Given the description of an element on the screen output the (x, y) to click on. 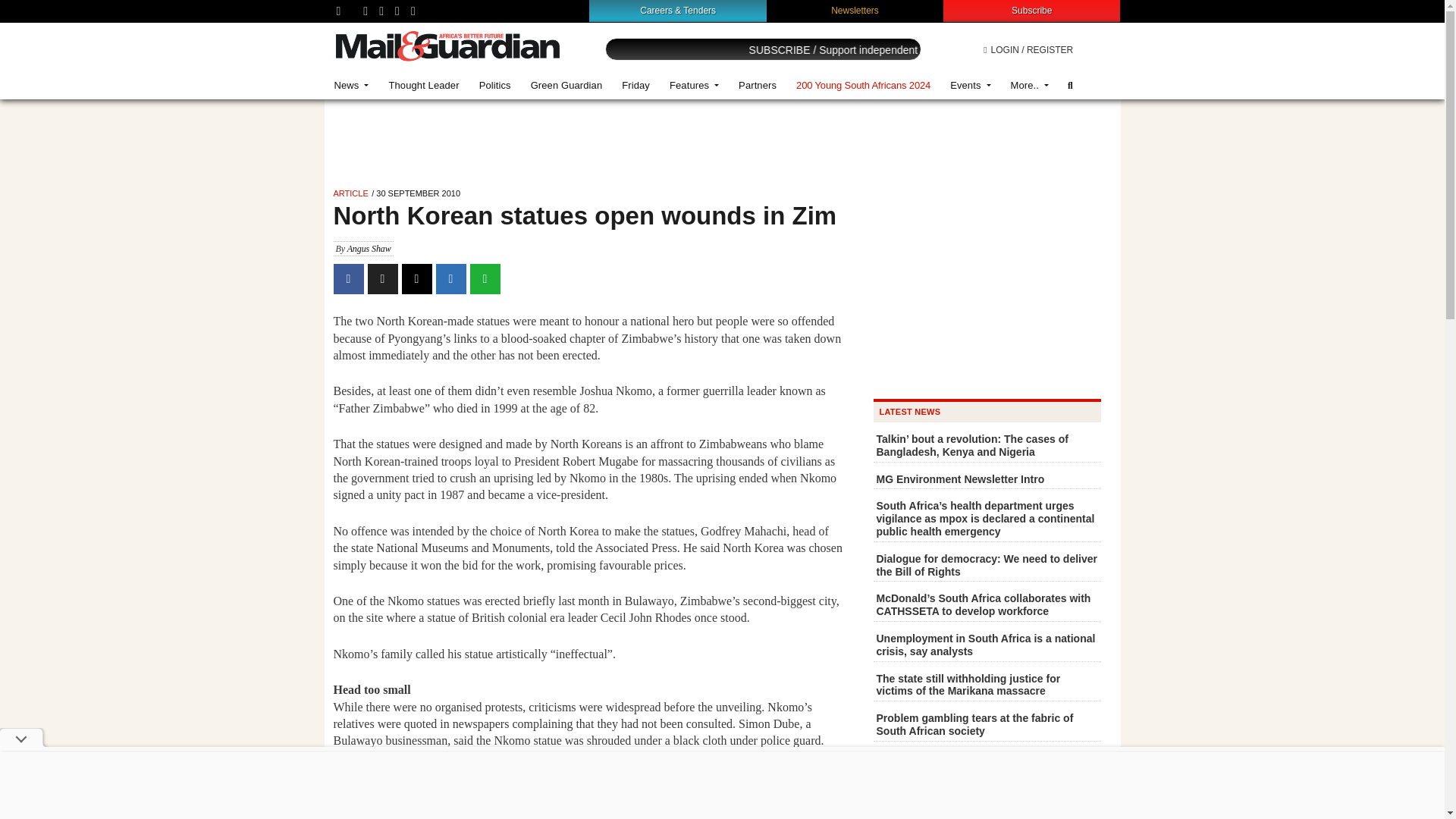
News (351, 85)
Thought Leader (423, 85)
Friday (635, 85)
Politics (494, 85)
Green Guardian (566, 85)
News (351, 85)
Subscribe (1031, 9)
Features (694, 85)
Newsletters (855, 9)
